Given the description of an element on the screen output the (x, y) to click on. 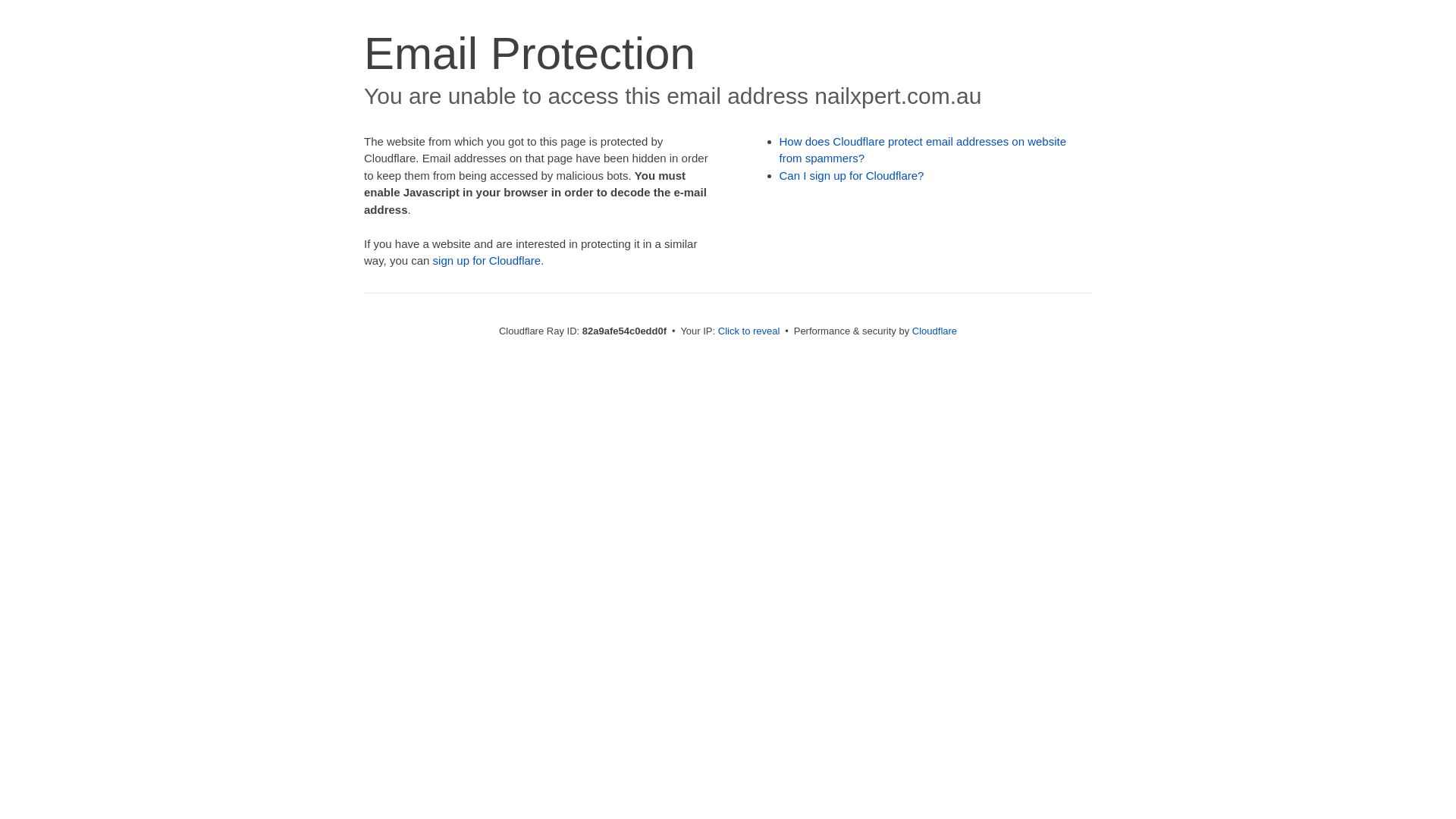
Can I sign up for Cloudflare? Element type: text (851, 175)
sign up for Cloudflare Element type: text (487, 260)
Click to reveal Element type: text (749, 330)
Cloudflare Element type: text (934, 330)
